Given the description of an element on the screen output the (x, y) to click on. 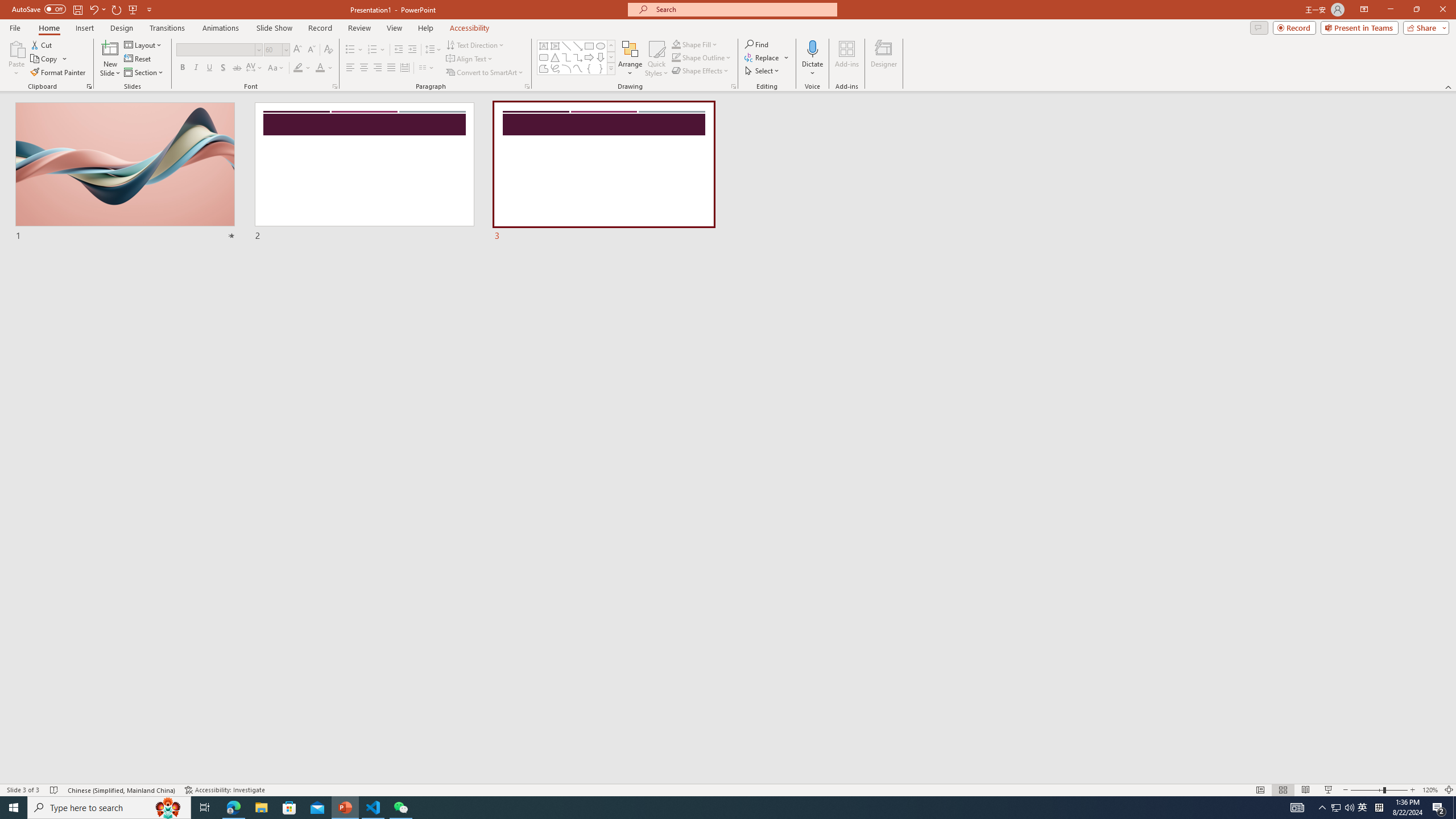
Shape Fill Orange, Accent 2 (675, 44)
